Given the description of an element on the screen output the (x, y) to click on. 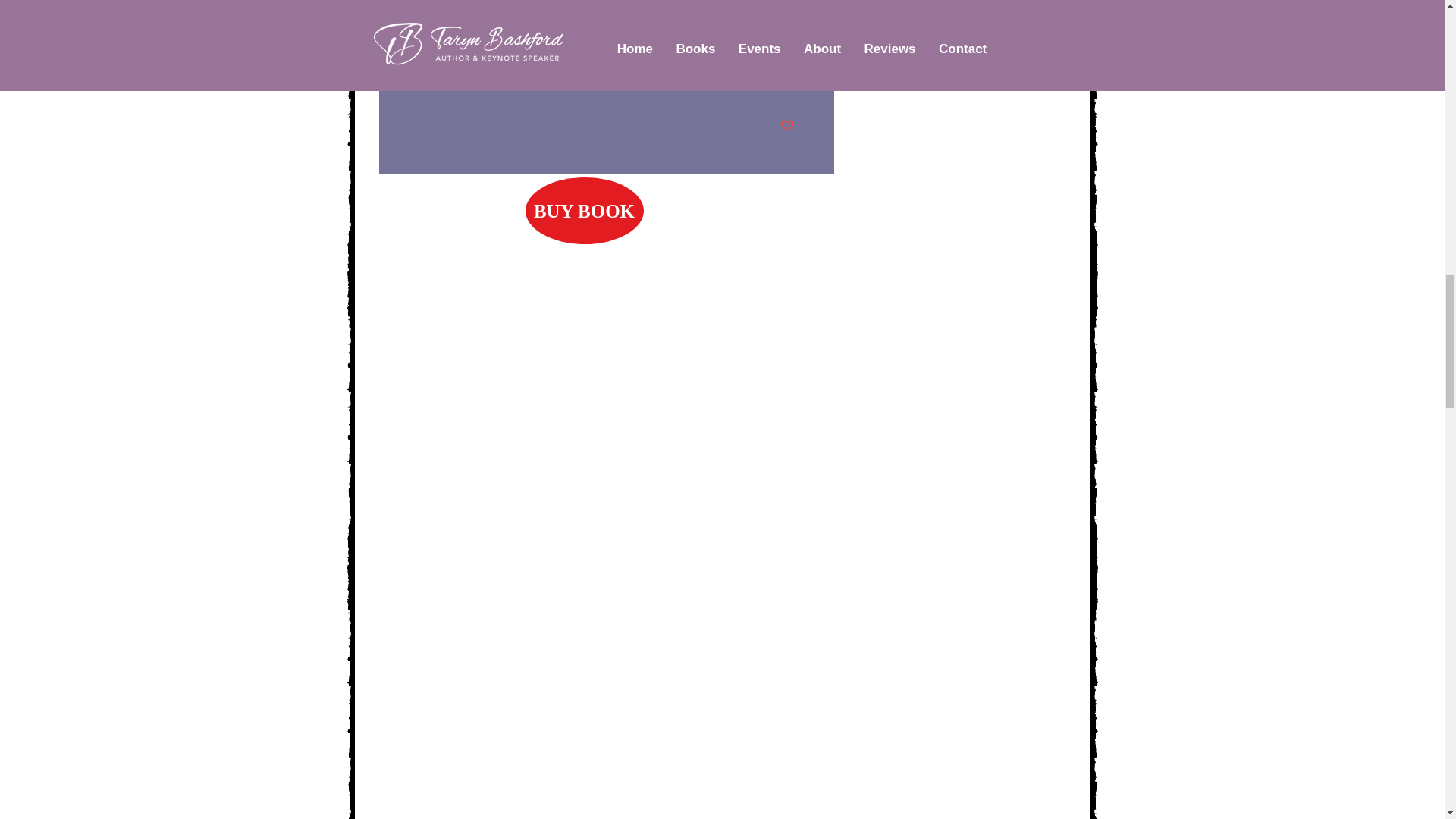
teens (432, 28)
I'm Not Good Enough - The Jeans Tee (704, 80)
Post not marked as liked (785, 125)
